Given the description of an element on the screen output the (x, y) to click on. 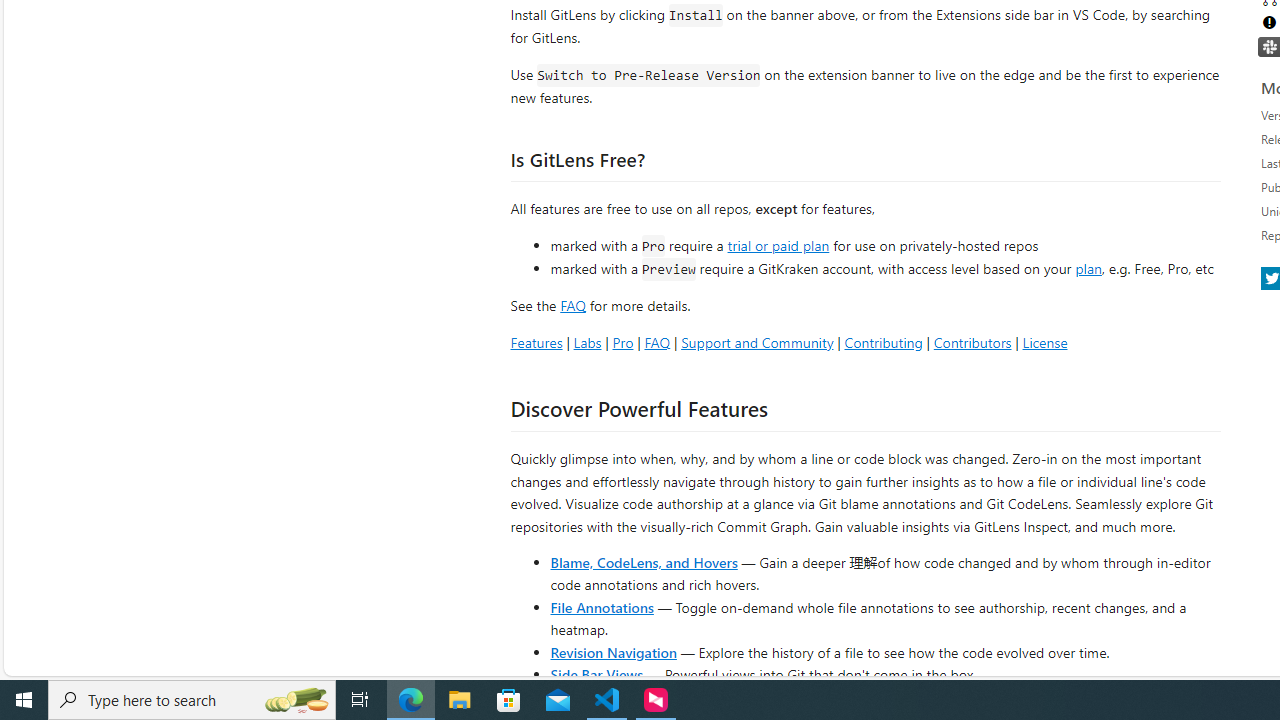
Task View (359, 699)
File Explorer (460, 699)
Type here to search (191, 699)
Microsoft Store (509, 699)
Search highlights icon opens search home window (295, 699)
Visual Studio Code - 1 running window (607, 699)
Start (24, 699)
Microsoft Edge - 1 running window (411, 699)
